Given the description of an element on the screen output the (x, y) to click on. 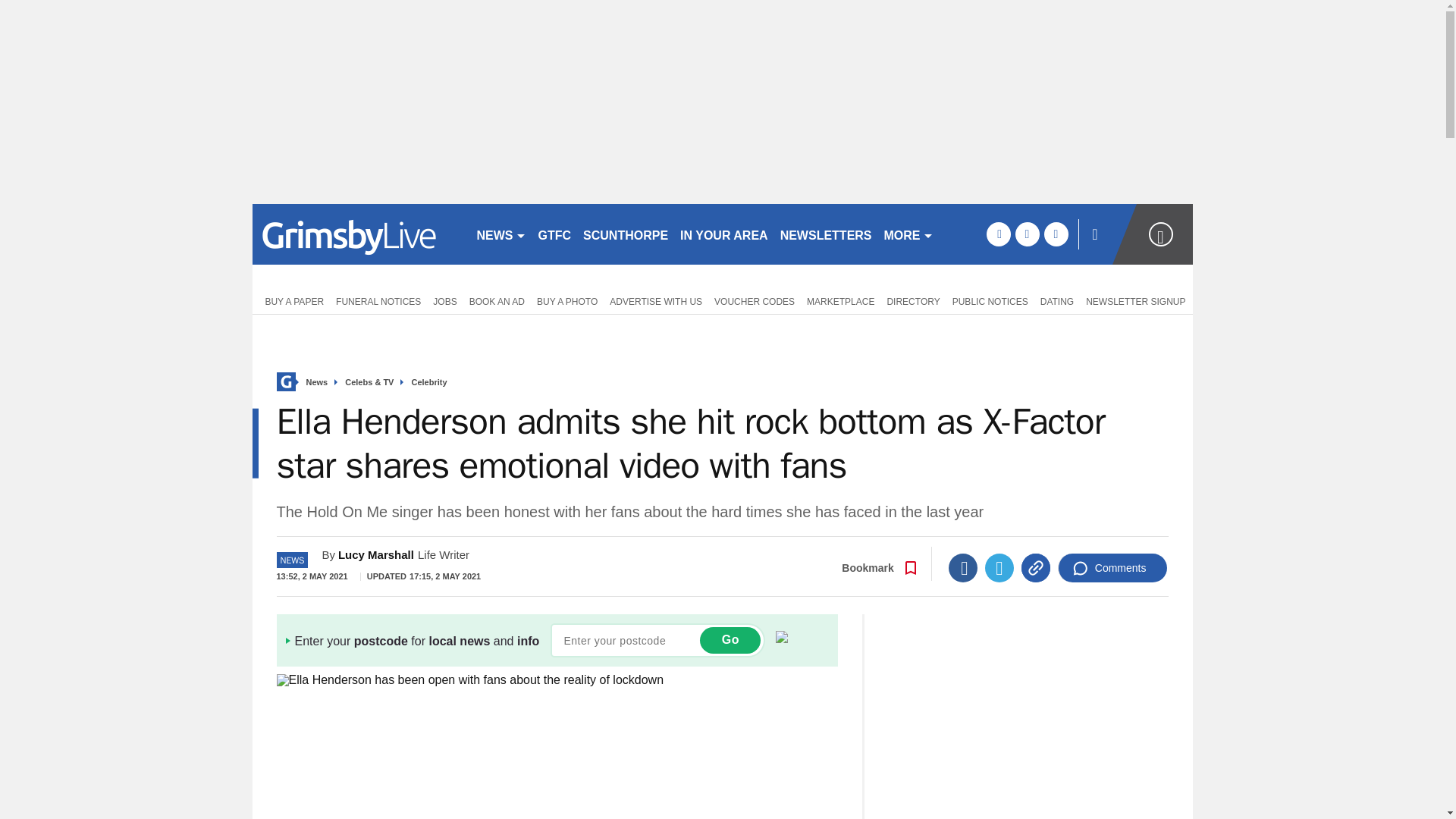
BUY A PHOTO (567, 300)
NEWS (500, 233)
BUY A PAPER (290, 300)
SCUNTHORPE (625, 233)
NEWSLETTERS (825, 233)
ADVERTISE WITH US (655, 300)
twitter (1026, 233)
FUNERAL NOTICES (378, 300)
Twitter (999, 567)
Facebook (962, 567)
